Given the description of an element on the screen output the (x, y) to click on. 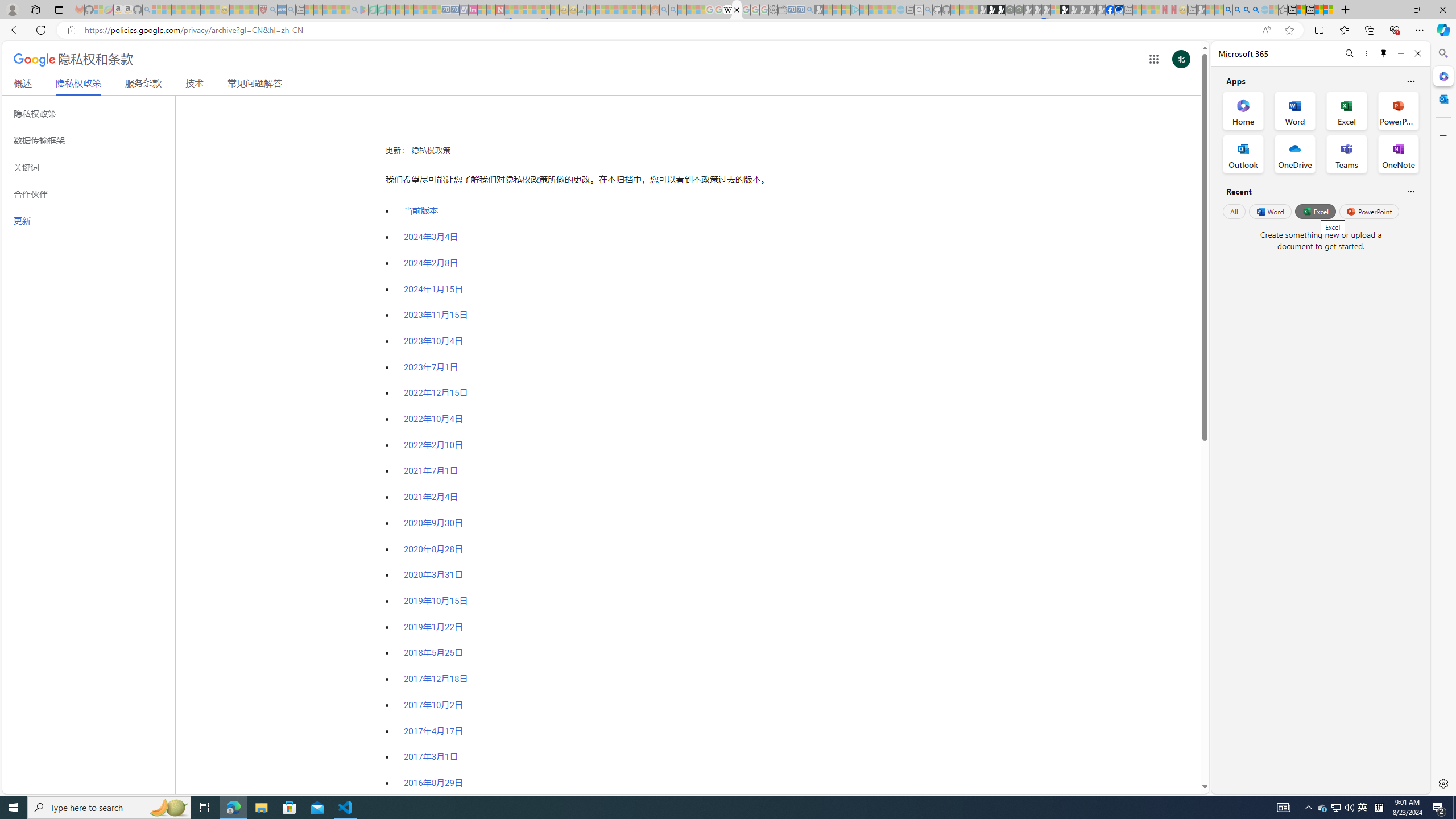
Terms of Use Agreement - Sleeping (372, 9)
Close Customize pane (1442, 135)
Side bar (1443, 418)
Outlook Office App (1243, 154)
Cheap Hotels - Save70.com - Sleeping (454, 9)
Home Office App (1243, 110)
AirNow.gov (1118, 9)
2009 Bing officially replaced Live Search on June 3 - Search (1236, 9)
